Given the description of an element on the screen output the (x, y) to click on. 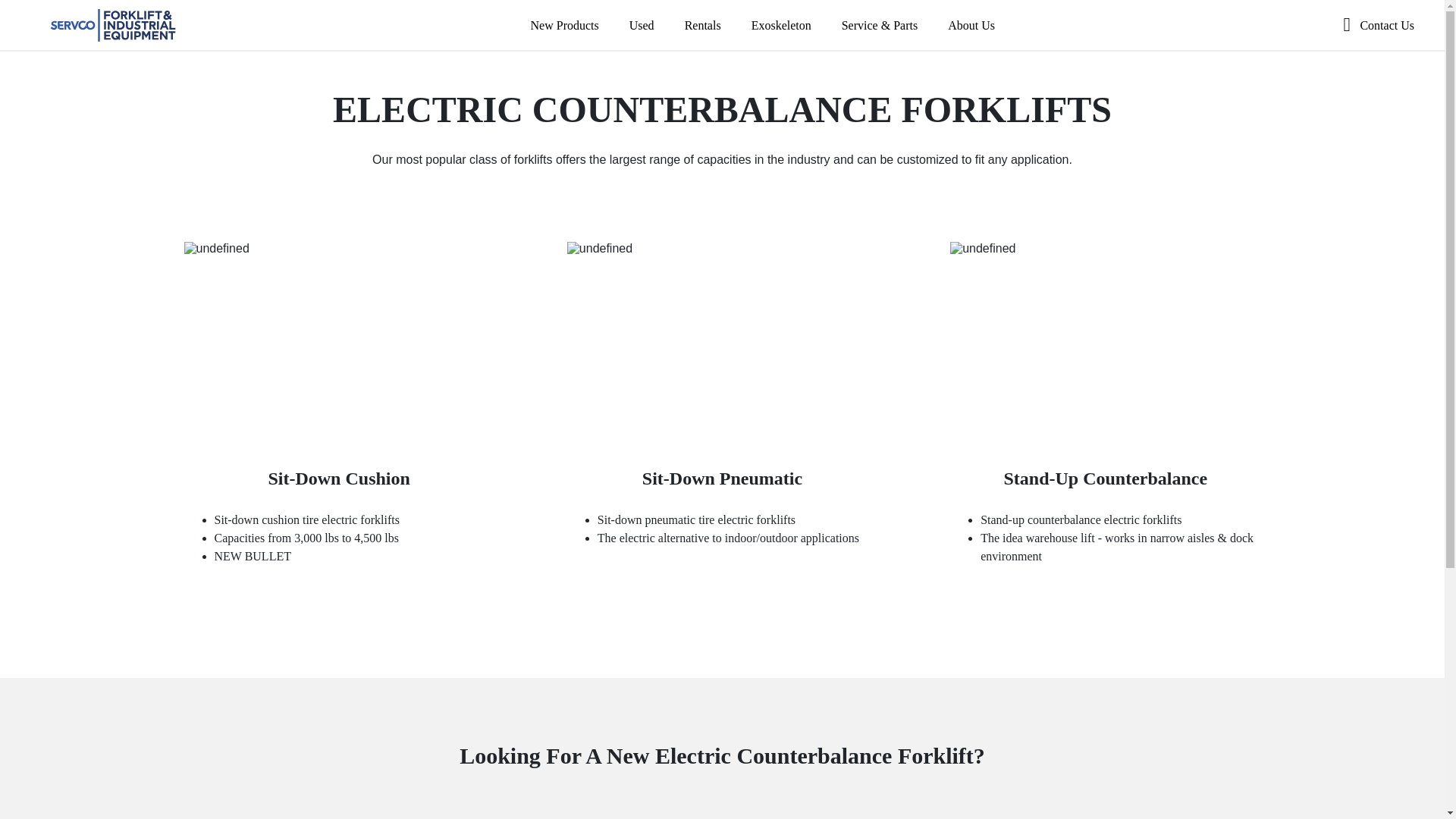
undefined (1105, 344)
Exoskeleton (780, 24)
About Us (971, 24)
undefined (722, 344)
Contact Us (1380, 25)
New Products (564, 24)
undefined (338, 344)
Rentals (702, 24)
Servco Forklift Home (112, 24)
